Given the description of an element on the screen output the (x, y) to click on. 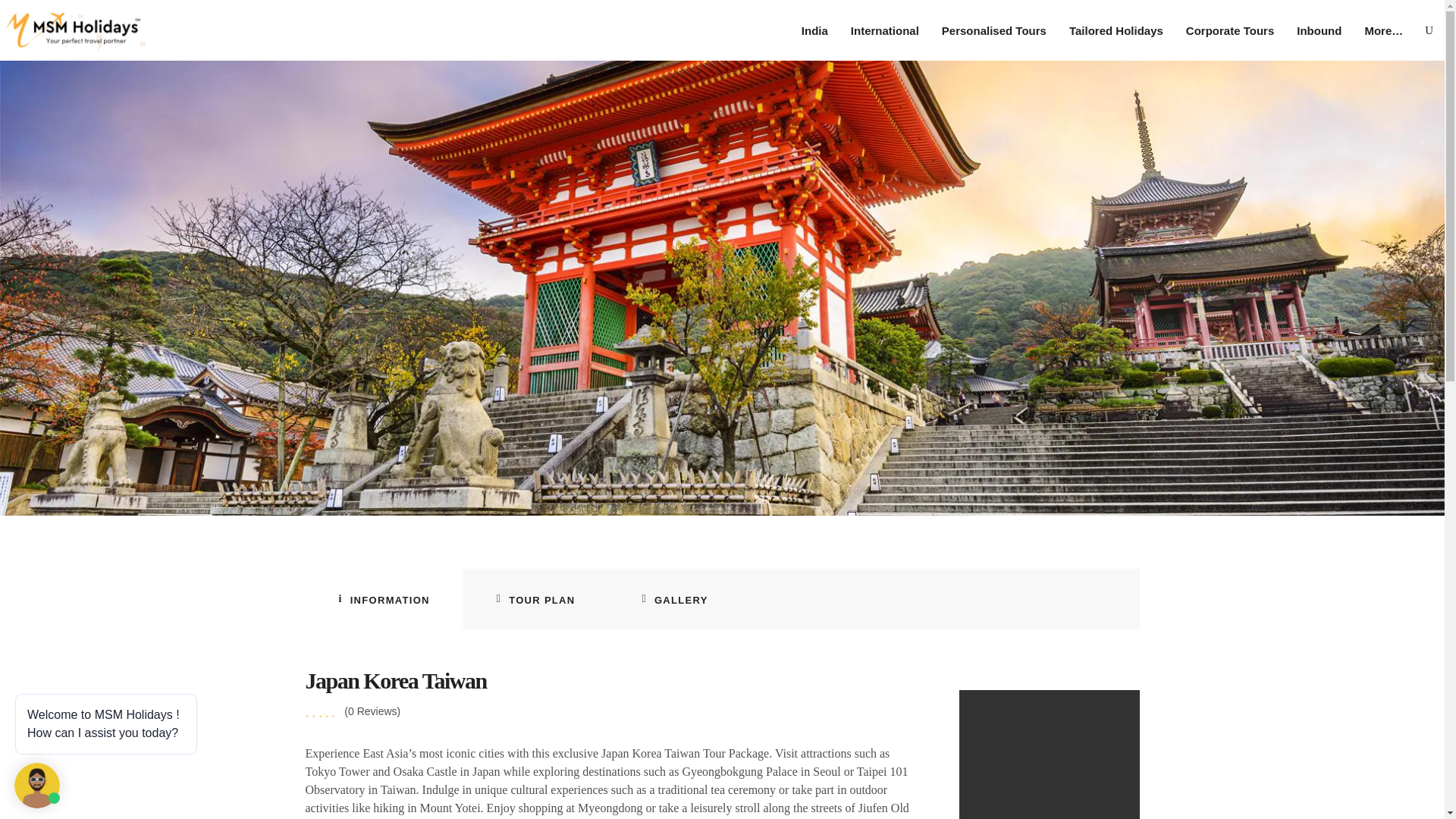
International (885, 30)
Corporate Tours (1229, 30)
India (815, 30)
Personalised Tours (994, 30)
Inbound (1318, 30)
Tailored Holidays (1116, 30)
